Given the description of an element on the screen output the (x, y) to click on. 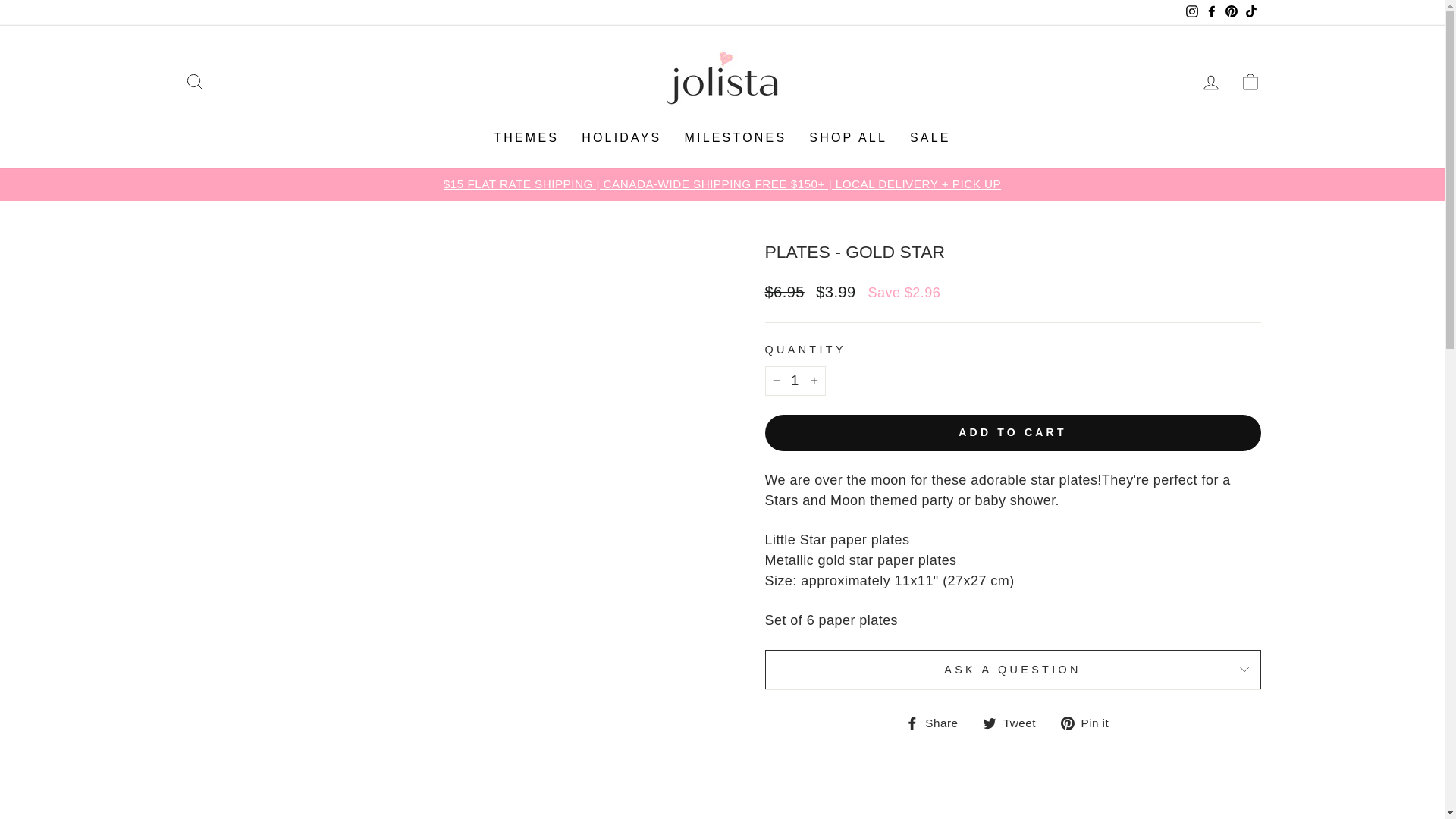
Share on Facebook (937, 722)
Pin on Pinterest (1090, 722)
1 (794, 380)
Tweet on Twitter (1014, 722)
